Given the description of an element on the screen output the (x, y) to click on. 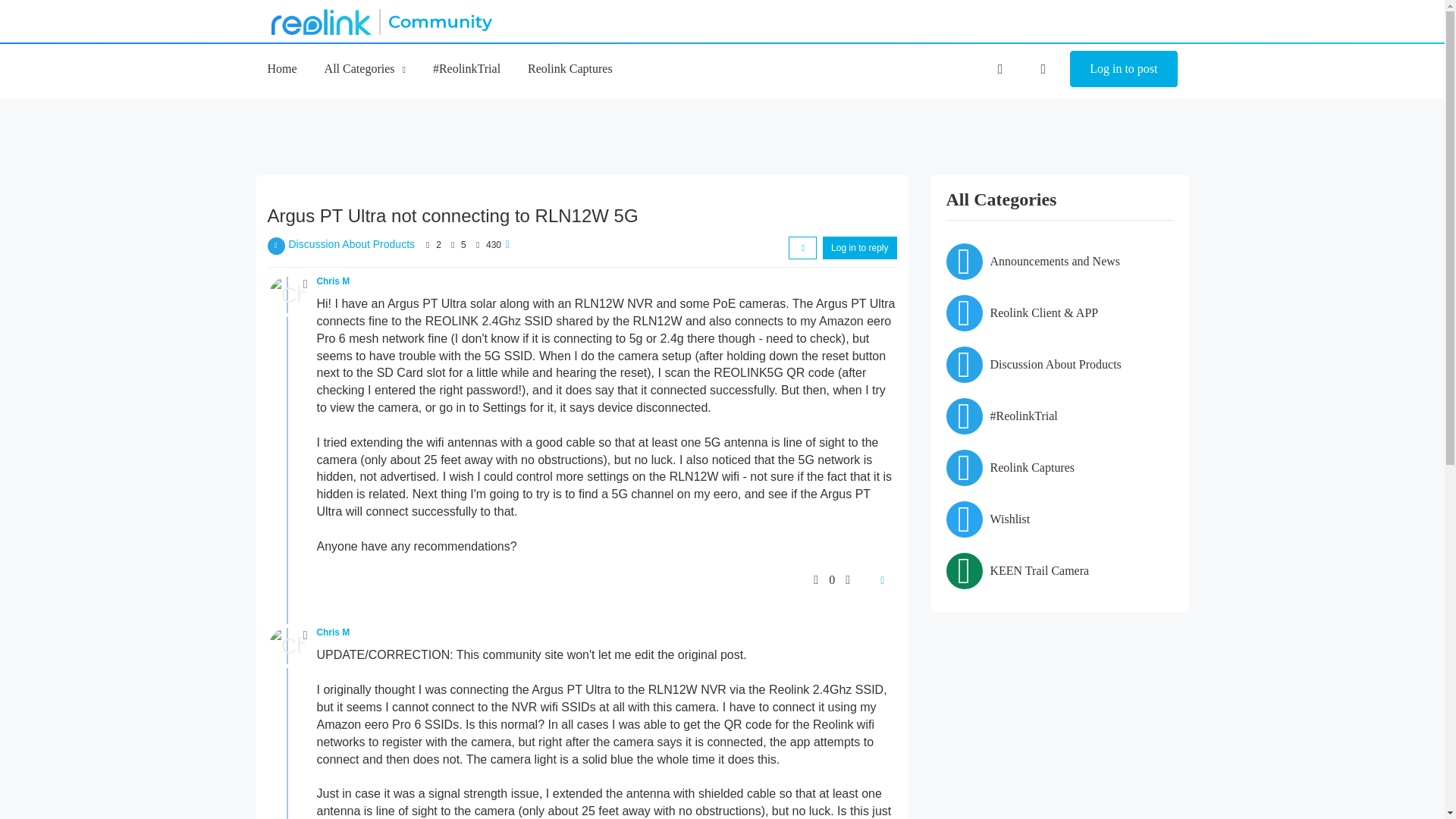
Views (477, 244)
Reolink Captures (569, 68)
All Categories (365, 68)
Chris M (333, 281)
Posters (427, 244)
430 (493, 244)
Discussion About Products (351, 244)
Log in to post (1123, 68)
Posts (452, 244)
Log in to reply (859, 247)
